Given the description of an element on the screen output the (x, y) to click on. 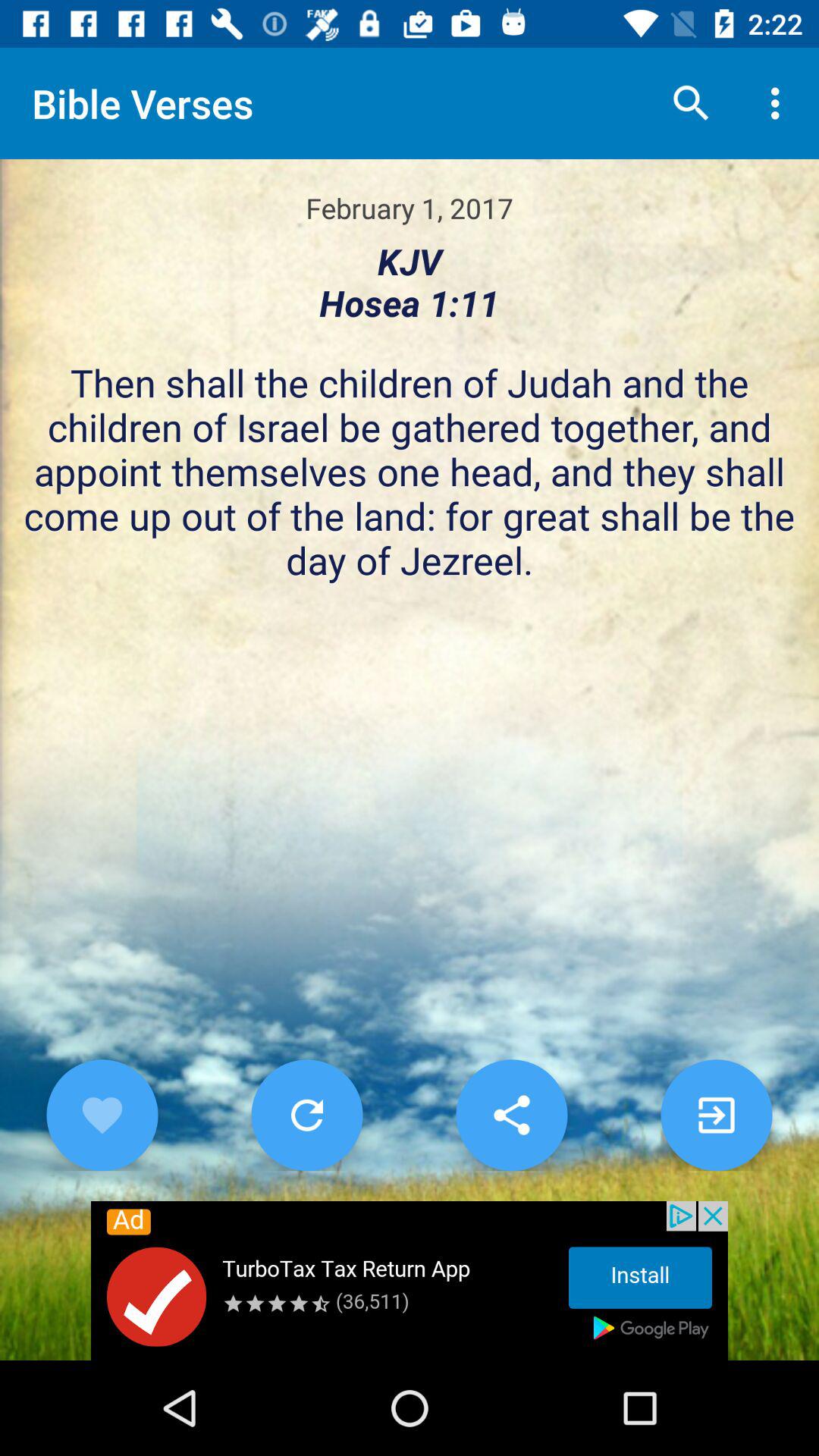
tap to reloaf (306, 1115)
